Given the description of an element on the screen output the (x, y) to click on. 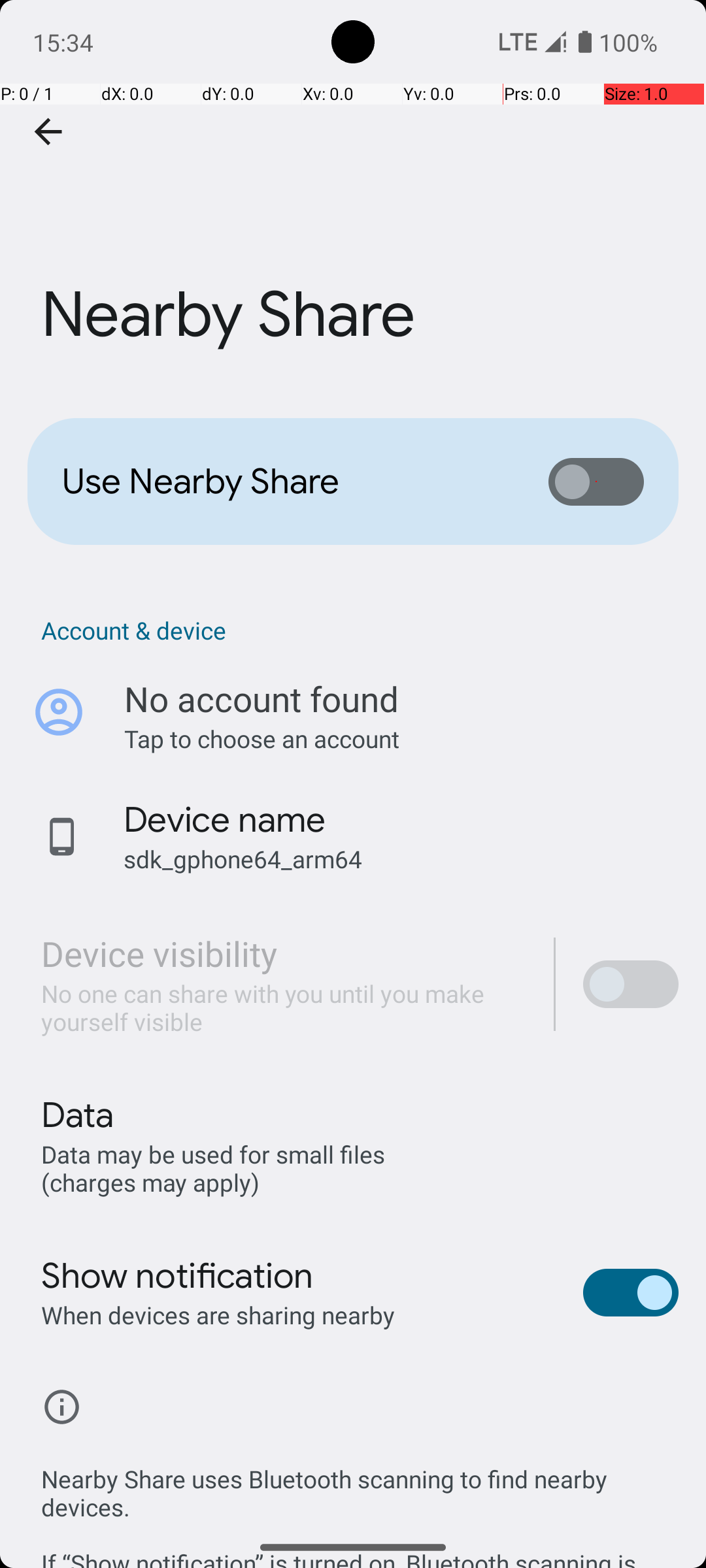
Nearby Share Element type: android.widget.FrameLayout (353, 195)
Use Nearby Share Element type: android.widget.TextView (284, 481)
Account & device Element type: android.widget.TextView (359, 629)
No account found Element type: android.widget.TextView (261, 698)
Tap to choose an account Element type: android.widget.TextView (401, 738)
Data Element type: android.widget.TextView (77, 1115)
Data may be used for small files 
(charges may apply) Element type: android.widget.TextView (215, 1167)
Show notification Element type: android.widget.TextView (177, 1275)
When devices are sharing nearby Element type: android.widget.TextView (218, 1314)
Nearby Share uses Bluetooth scanning to find nearby devices. 

If “Show notification” is turned on, Bluetooth scanning is used to notify you if someone wants to share with you, even when Nearby Share is turned off. Element type: android.widget.TextView (359, 1501)
No one can share with you until you make yourself visible Element type: android.widget.TextView (283, 1007)
